Given the description of an element on the screen output the (x, y) to click on. 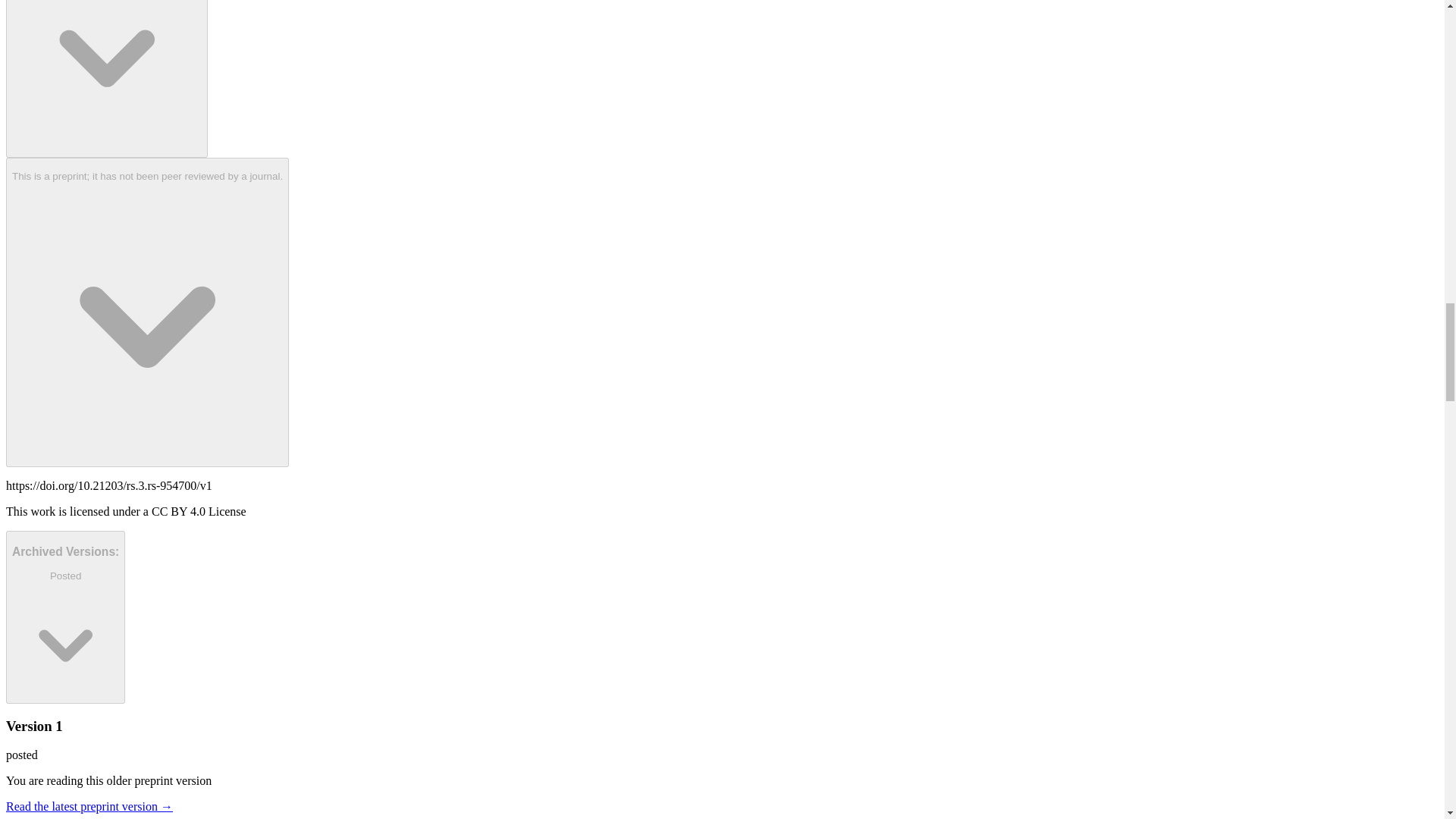
Sujin Lee, Byungjoon Min, Junhyeok Bang (106, 79)
